Given the description of an element on the screen output the (x, y) to click on. 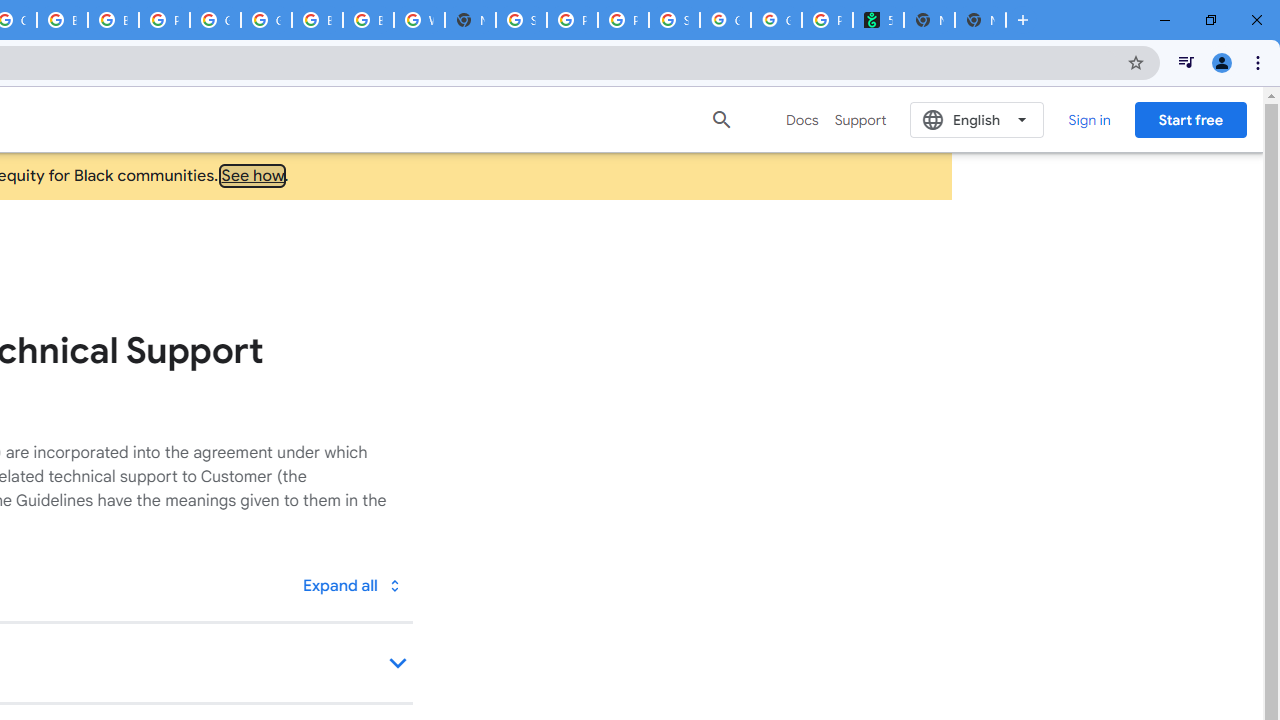
Sign in - Google Accounts (520, 20)
Docs (802, 119)
Browse Chrome as a guest - Computer - Google Chrome Help (368, 20)
See how (253, 175)
Control your music, videos, and more (1185, 62)
New Tab (980, 20)
Browse Chrome as a guest - Computer - Google Chrome Help (317, 20)
Google Cloud Platform (265, 20)
Browse Chrome as a guest - Computer - Google Chrome Help (62, 20)
